Given the description of an element on the screen output the (x, y) to click on. 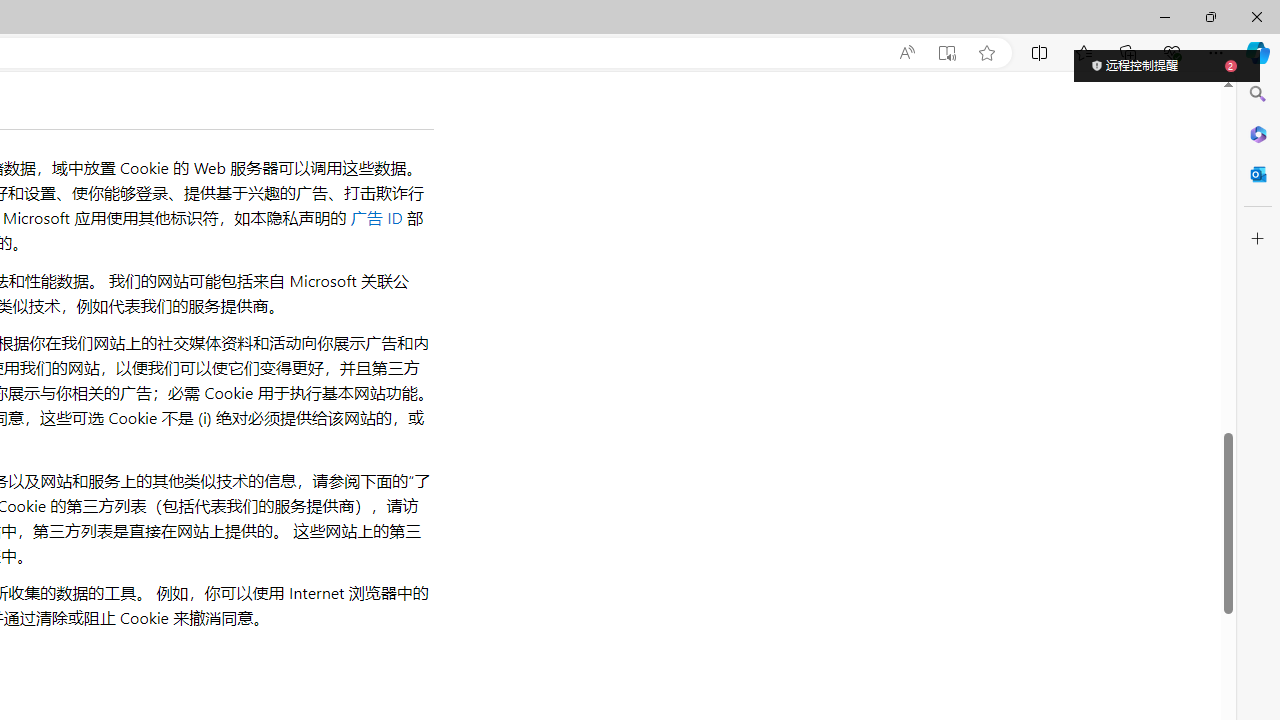
Outlook (1258, 174)
